Given the description of an element on the screen output the (x, y) to click on. 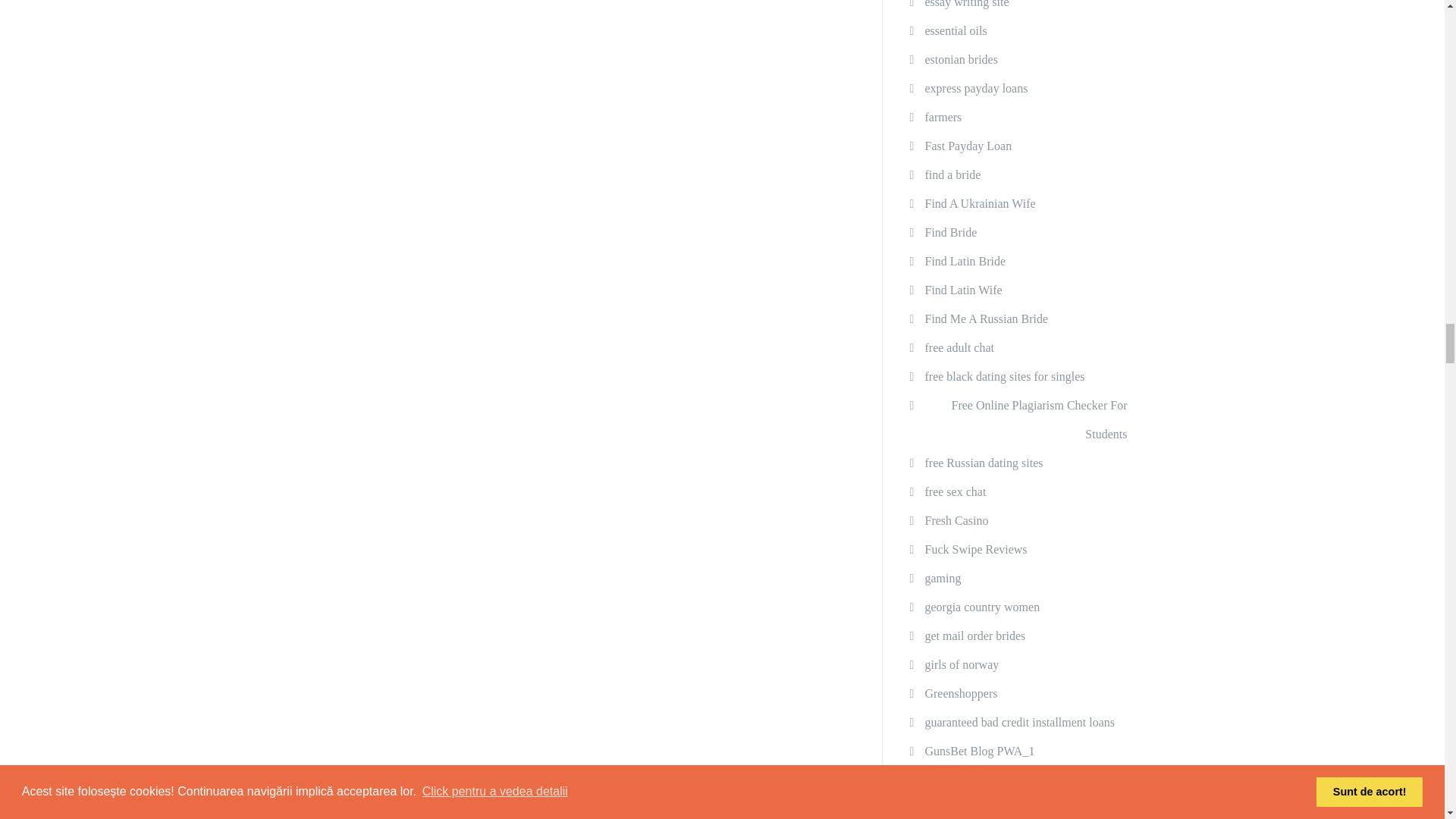
gaming (942, 578)
home based business (975, 779)
